Given the description of an element on the screen output the (x, y) to click on. 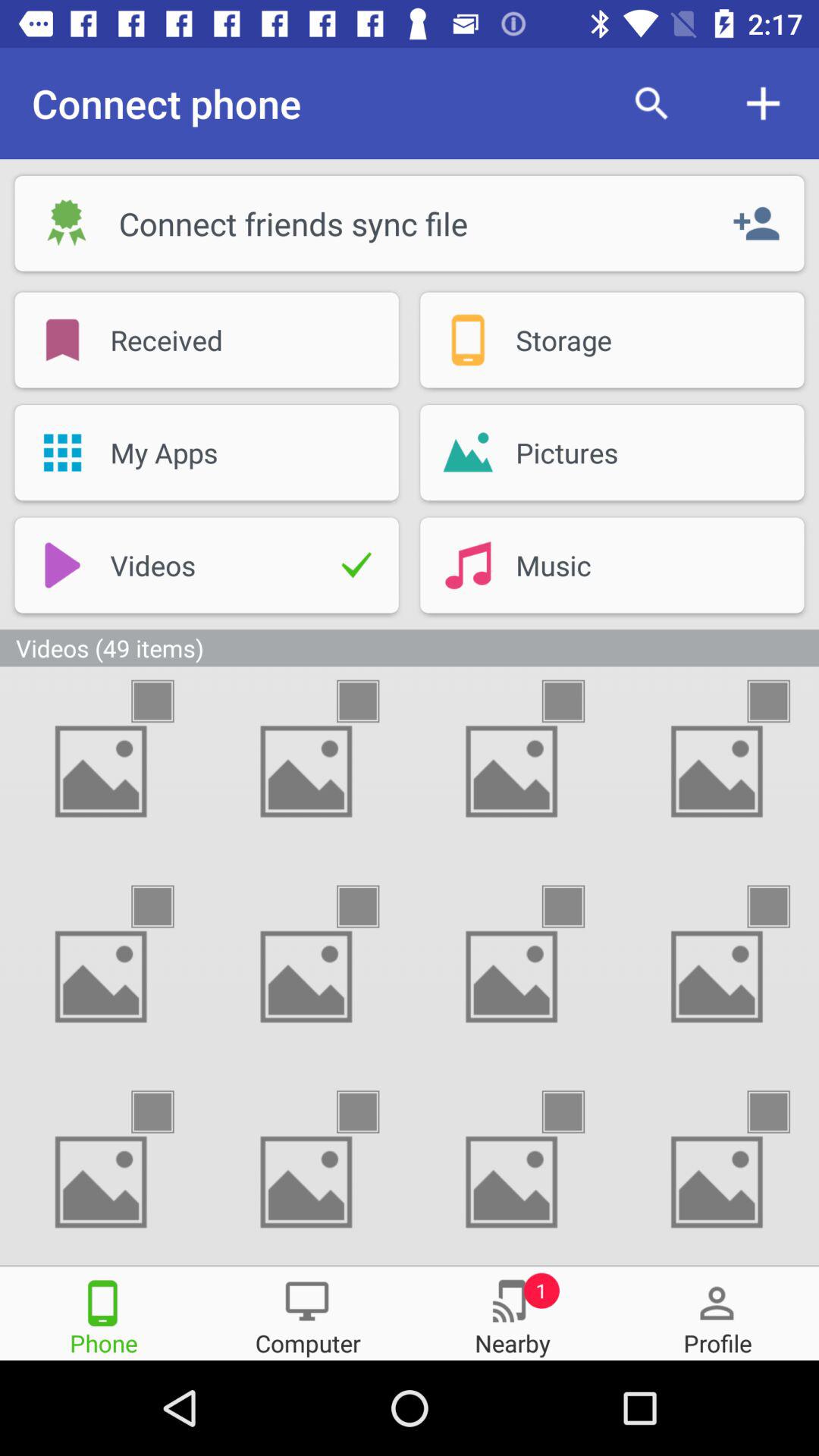
mark the item (166, 700)
